Given the description of an element on the screen output the (x, y) to click on. 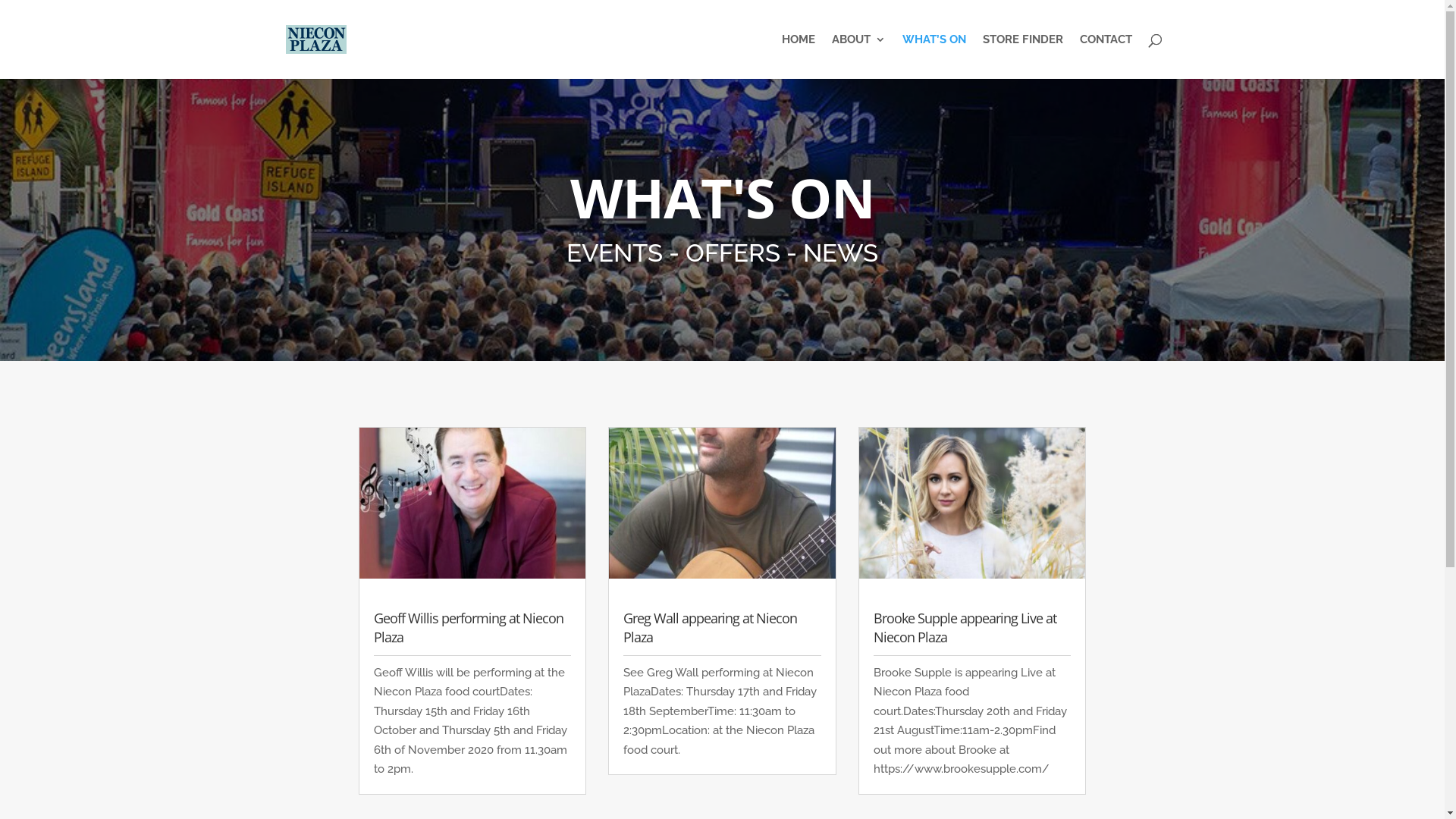
Brooke Supple appearing Live at Niecon Plaza Element type: text (964, 627)
CONTACT Element type: text (1105, 56)
ABOUT Element type: text (857, 56)
STORE FINDER Element type: text (1022, 56)
Geoff Willis performing at Niecon Plaza Element type: text (467, 627)
HOME Element type: text (797, 56)
Greg Wall appearing at Niecon Plaza Element type: text (710, 627)
